Given the description of an element on the screen output the (x, y) to click on. 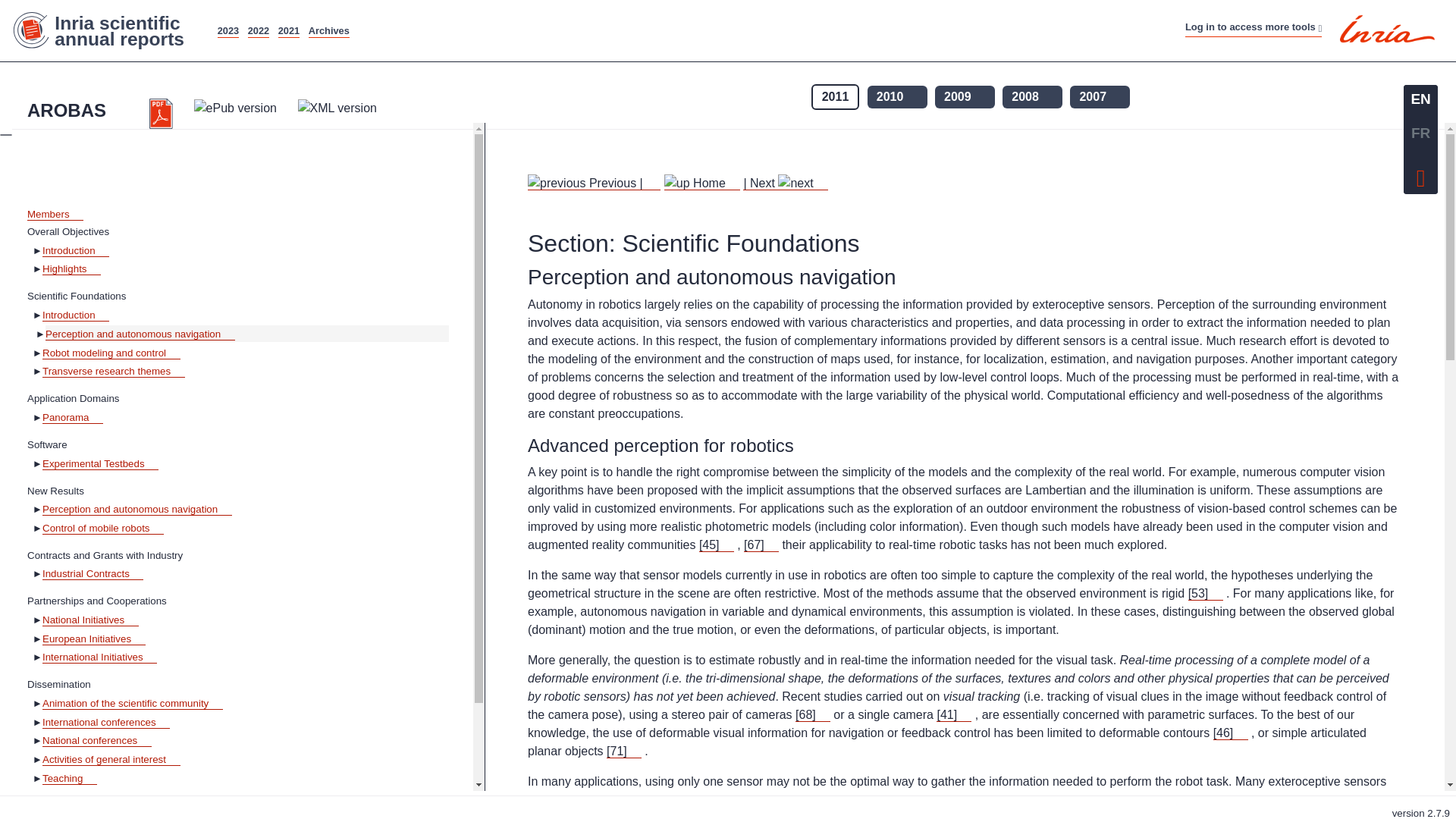
Accessibility (747, 23)
AROBAS (74, 110)
Site map (686, 23)
2021 (288, 30)
All archives (328, 30)
Log in to access more tools (1253, 27)
 FR: Use french language (1420, 133)
2023 annual reports (227, 30)
2022 (258, 30)
Current language en (1420, 99)
